Given the description of an element on the screen output the (x, y) to click on. 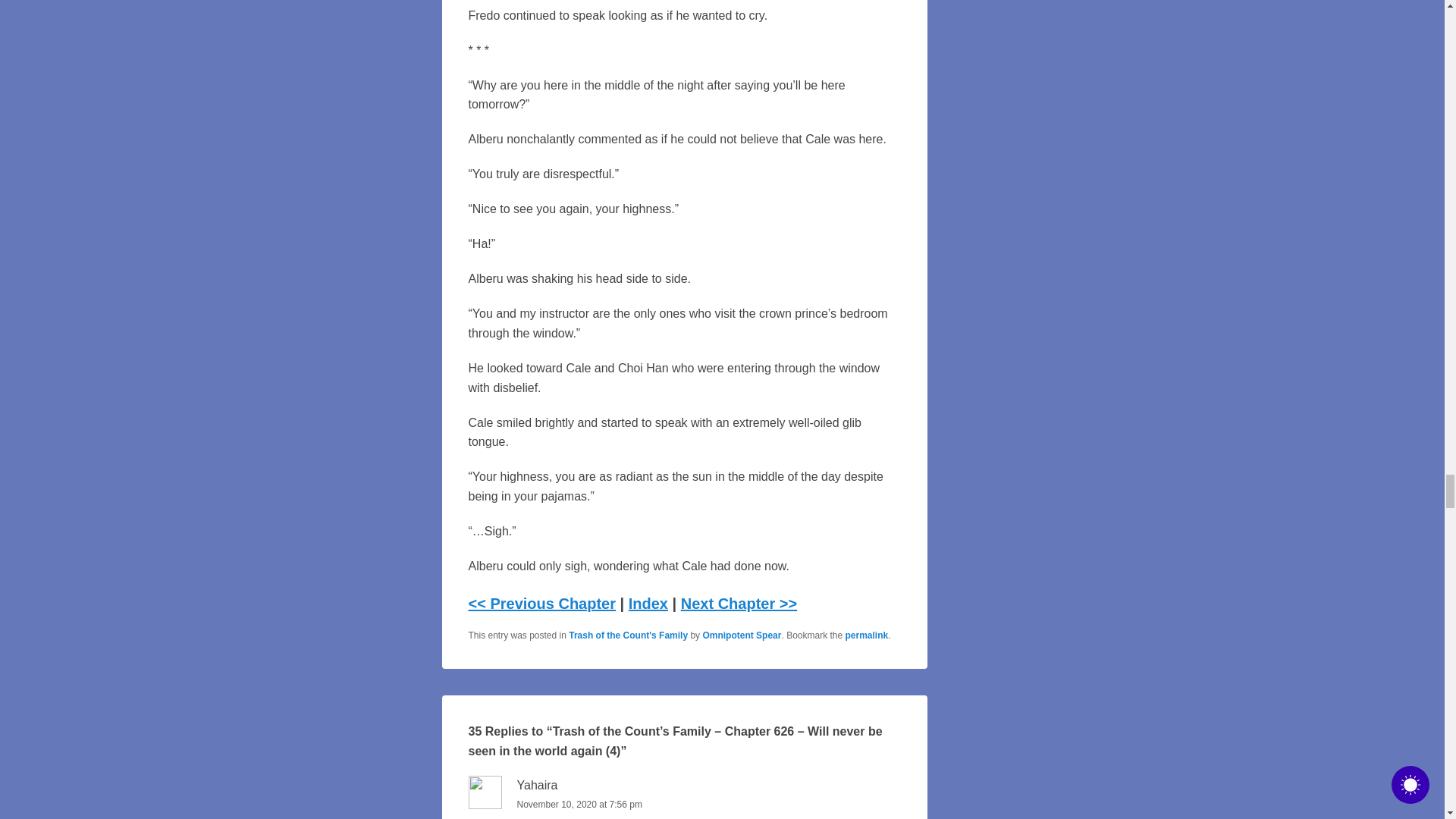
Index (648, 603)
Trash of the Count's Family (628, 634)
